Given the description of an element on the screen output the (x, y) to click on. 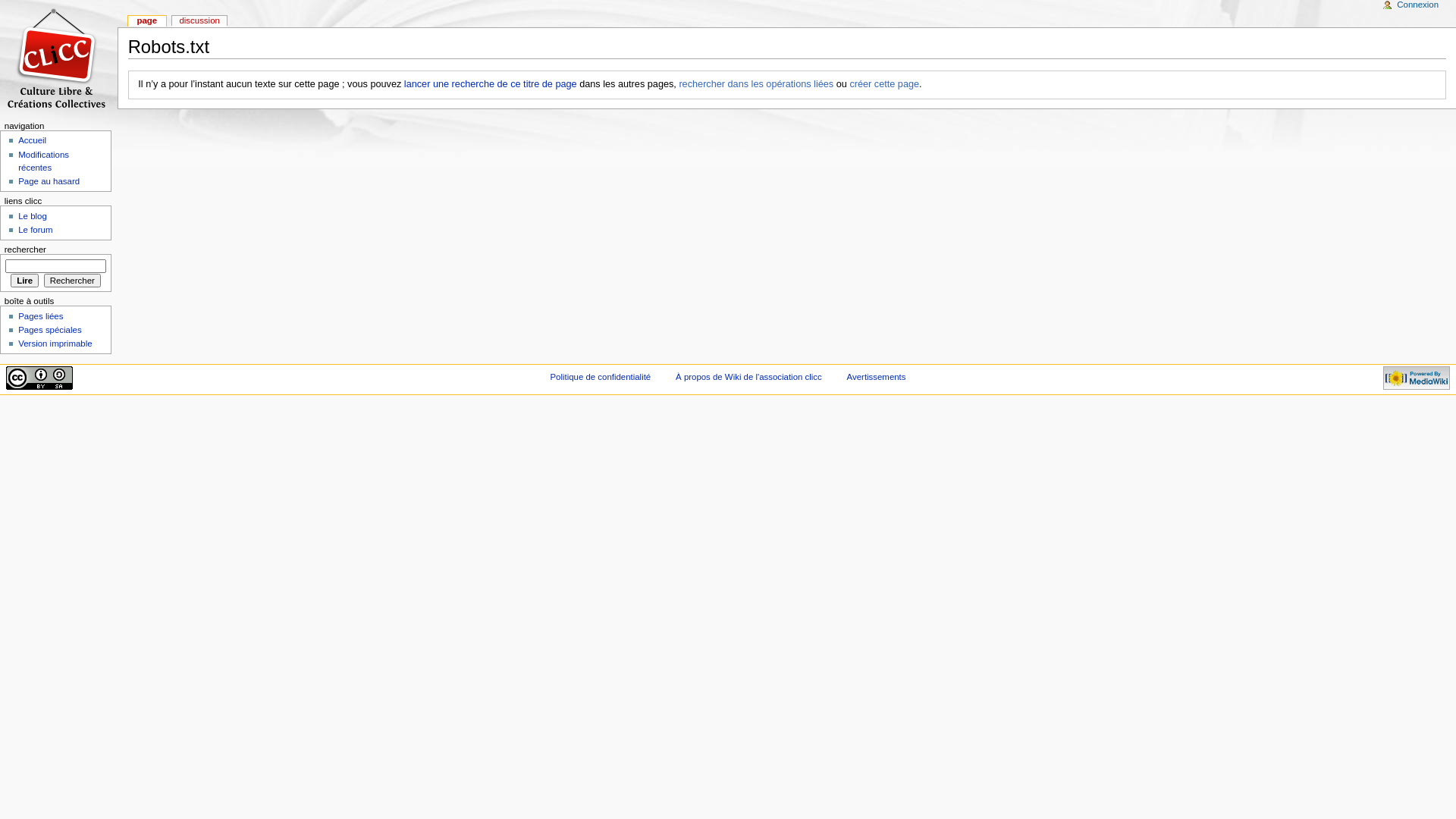
Page au hasard Element type: text (48, 180)
Le forum Element type: text (35, 229)
page Element type: text (147, 20)
Rechercher Element type: text (71, 280)
Lire Element type: text (23, 280)
Rechercher les pages comportant ce texte. Element type: hover (71, 280)
lancer une recherche de ce titre de page Element type: text (490, 83)
Page principale [ctrl-alt-z] Element type: hover (58, 58)
Connexion Element type: text (1417, 5)
Avertissements Element type: text (876, 376)
Accueil Element type: text (32, 139)
discussion Element type: text (199, 21)
Le blog Element type: text (32, 215)
Rechercher dans Wiki de l'association clicc [ctrl-alt-f] Element type: hover (55, 266)
Version imprimable Element type: text (54, 343)
